Given the description of an element on the screen output the (x, y) to click on. 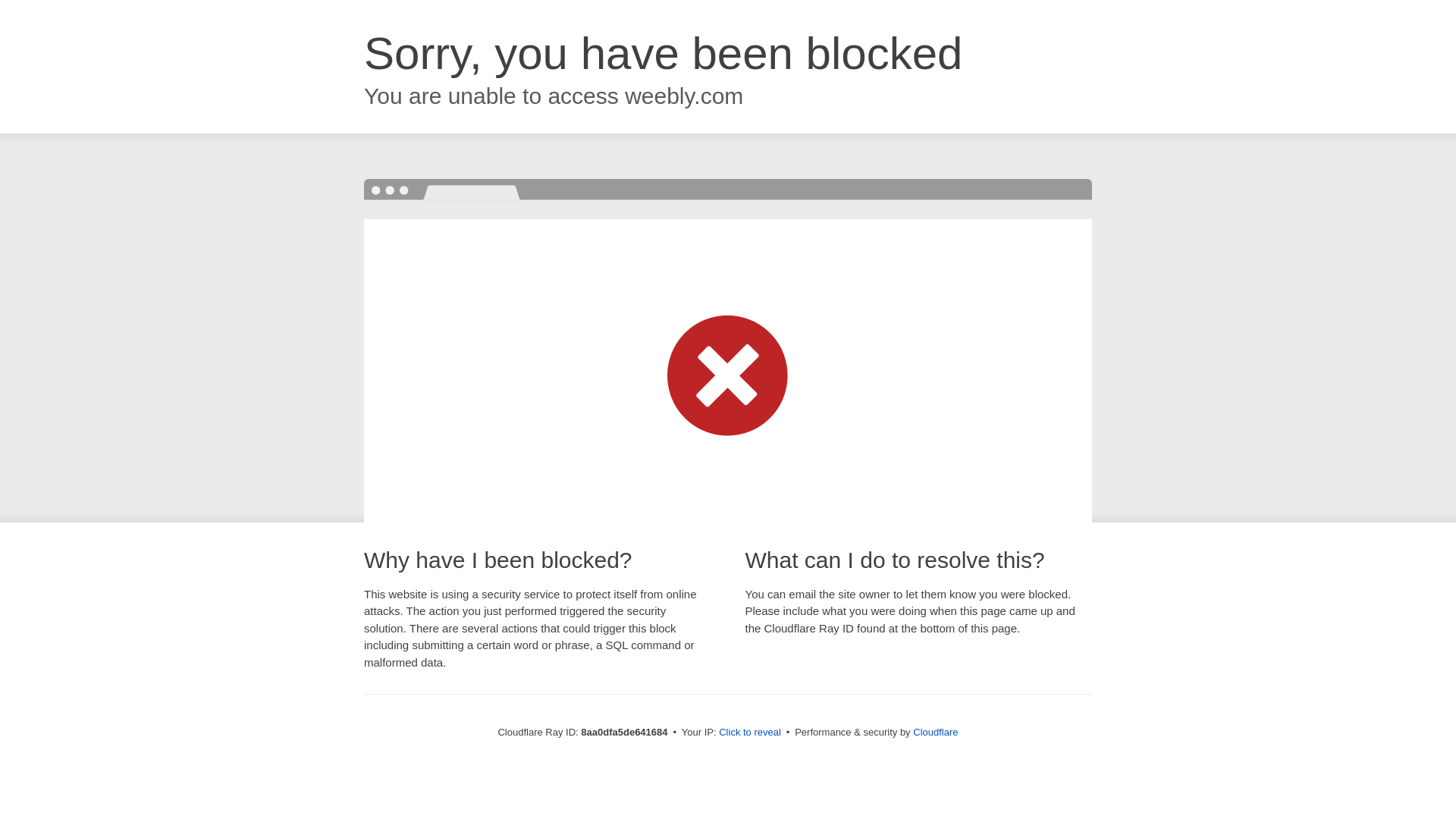
Click to reveal (749, 732)
Cloudflare (935, 731)
